Given the description of an element on the screen output the (x, y) to click on. 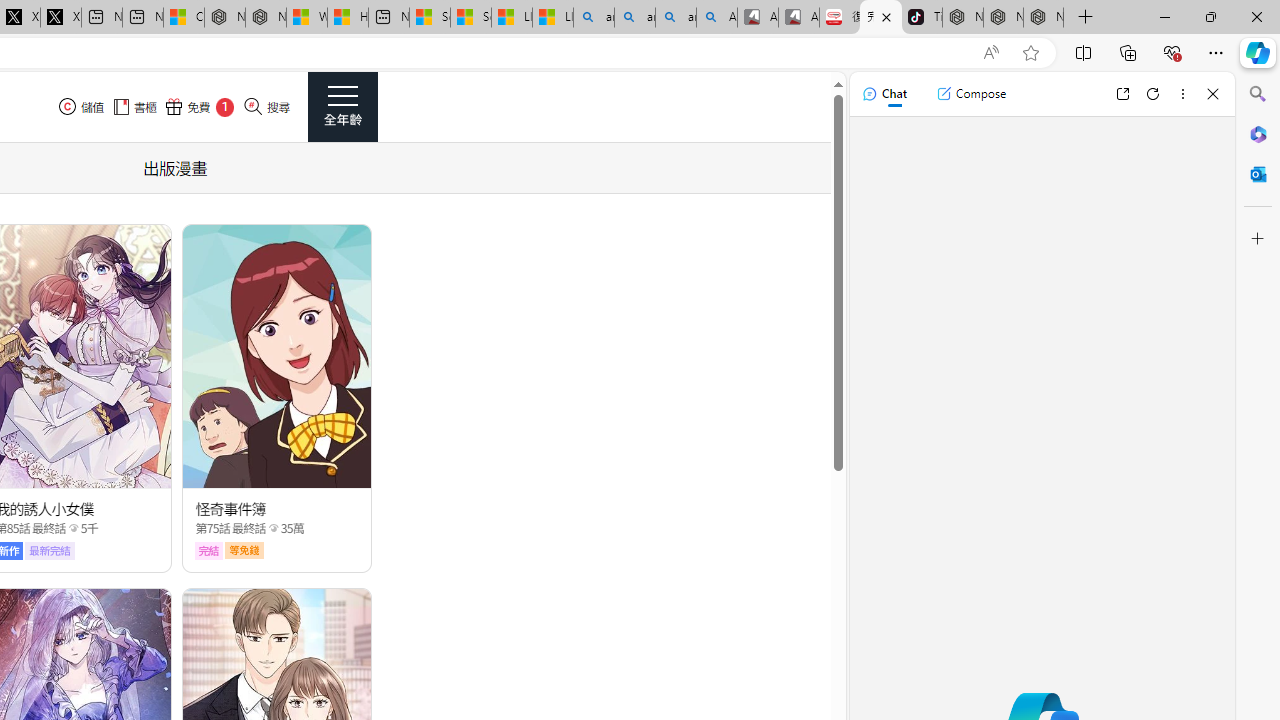
Customize (1258, 239)
Microsoft 365 (1258, 133)
Class: epicon_starpoint (273, 527)
